Given the description of an element on the screen output the (x, y) to click on. 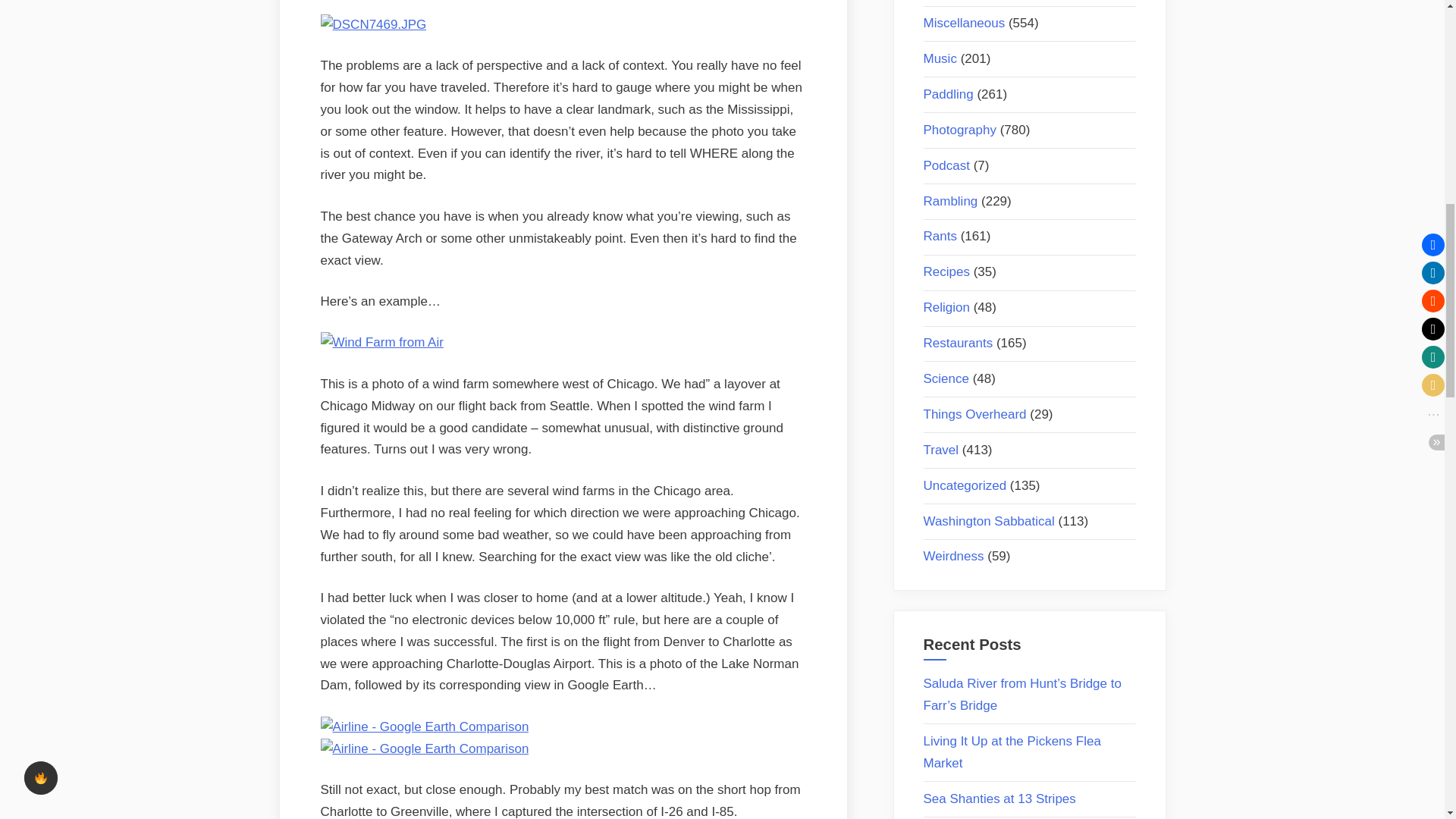
DSCN7469.JPG by RandomConnections, on Flickr (373, 24)
Wind Farm from Air by RandomConnections, on Flickr (381, 341)
